Given the description of an element on the screen output the (x, y) to click on. 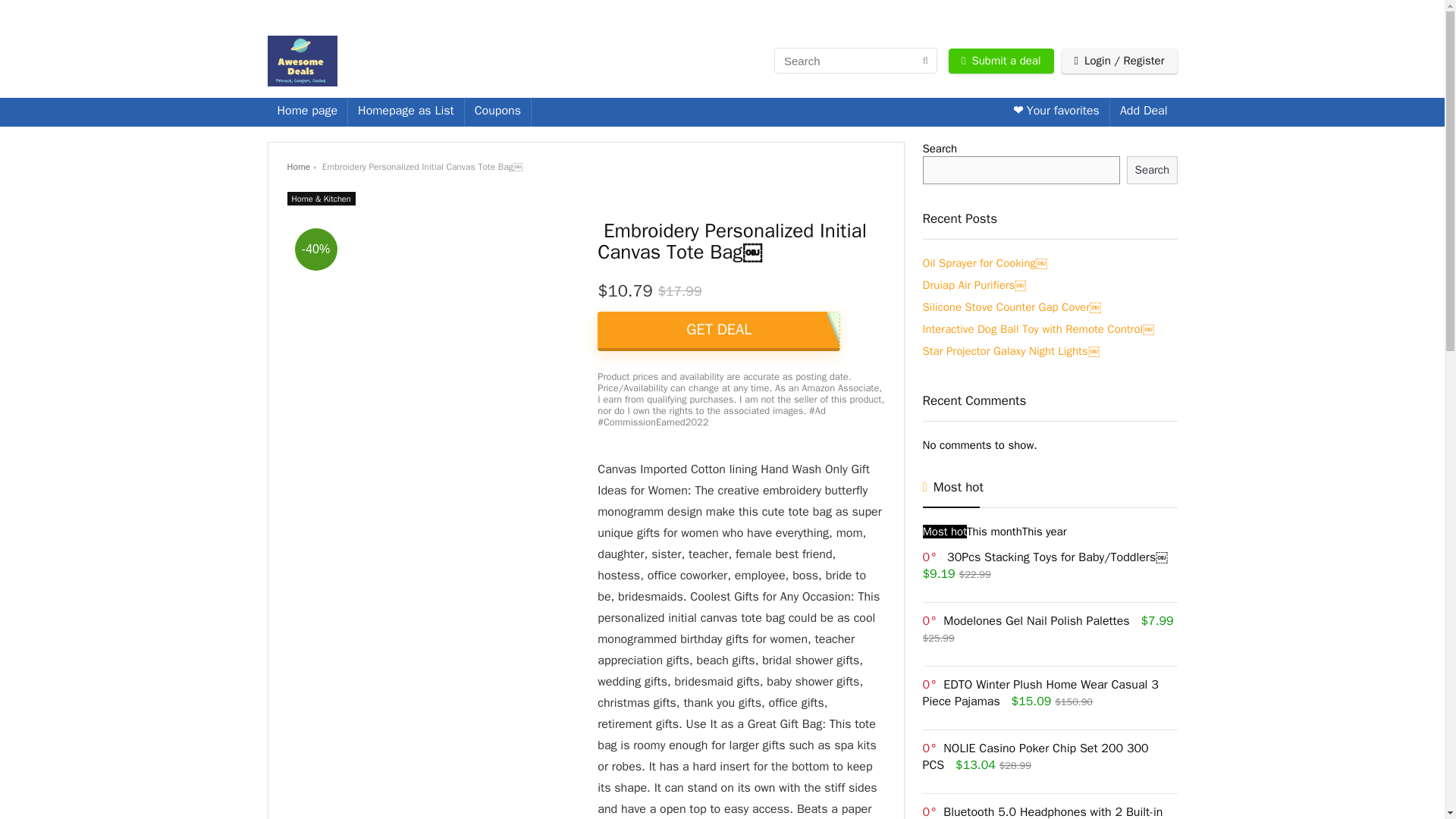
Home (298, 166)
Homepage as List (405, 111)
Home page (306, 111)
Add Deal (1143, 111)
Coupons (497, 111)
Submit a deal (1001, 60)
Search (1151, 170)
